Given the description of an element on the screen output the (x, y) to click on. 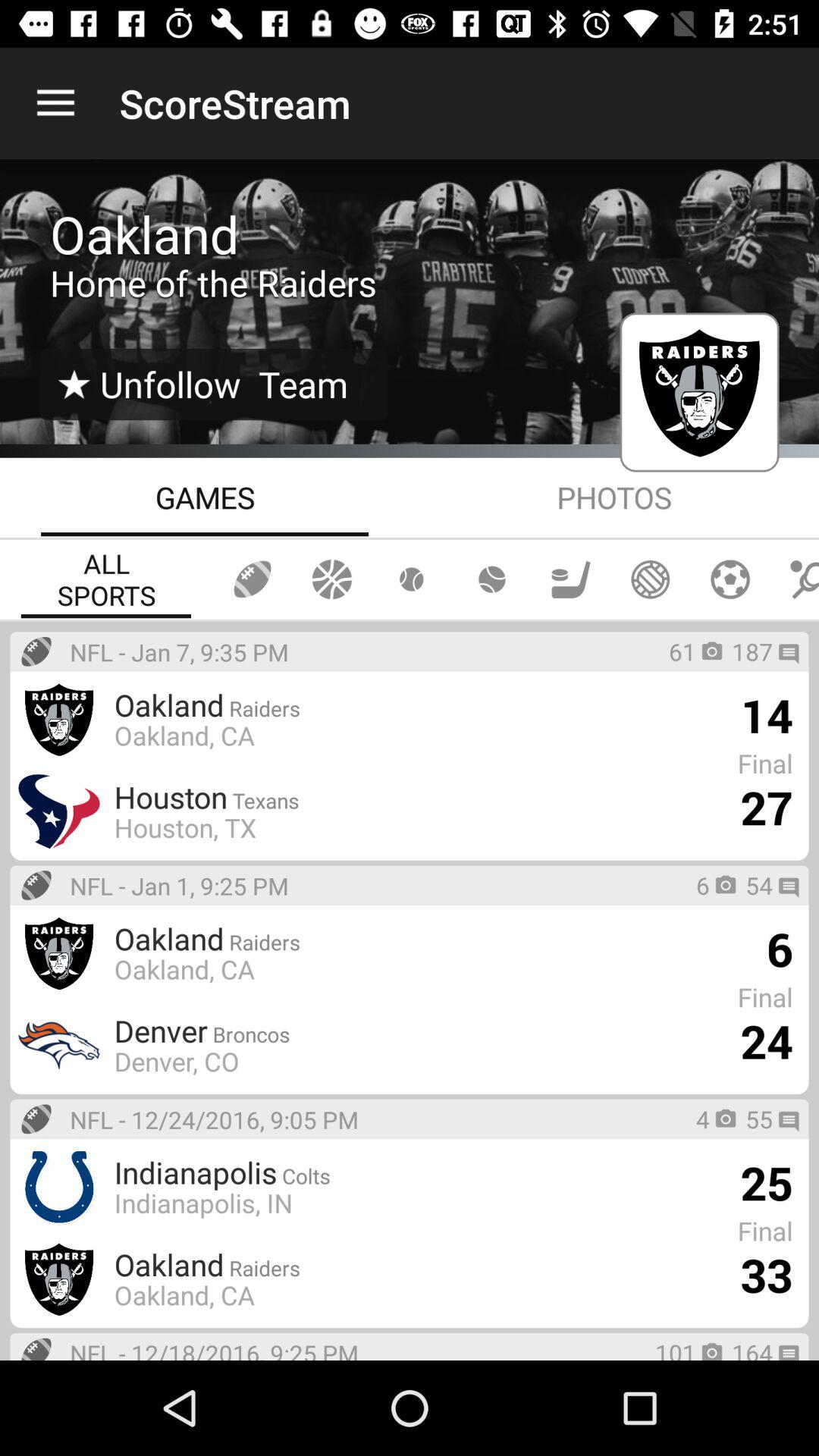
turn off the 27 (766, 806)
